Given the description of an element on the screen output the (x, y) to click on. 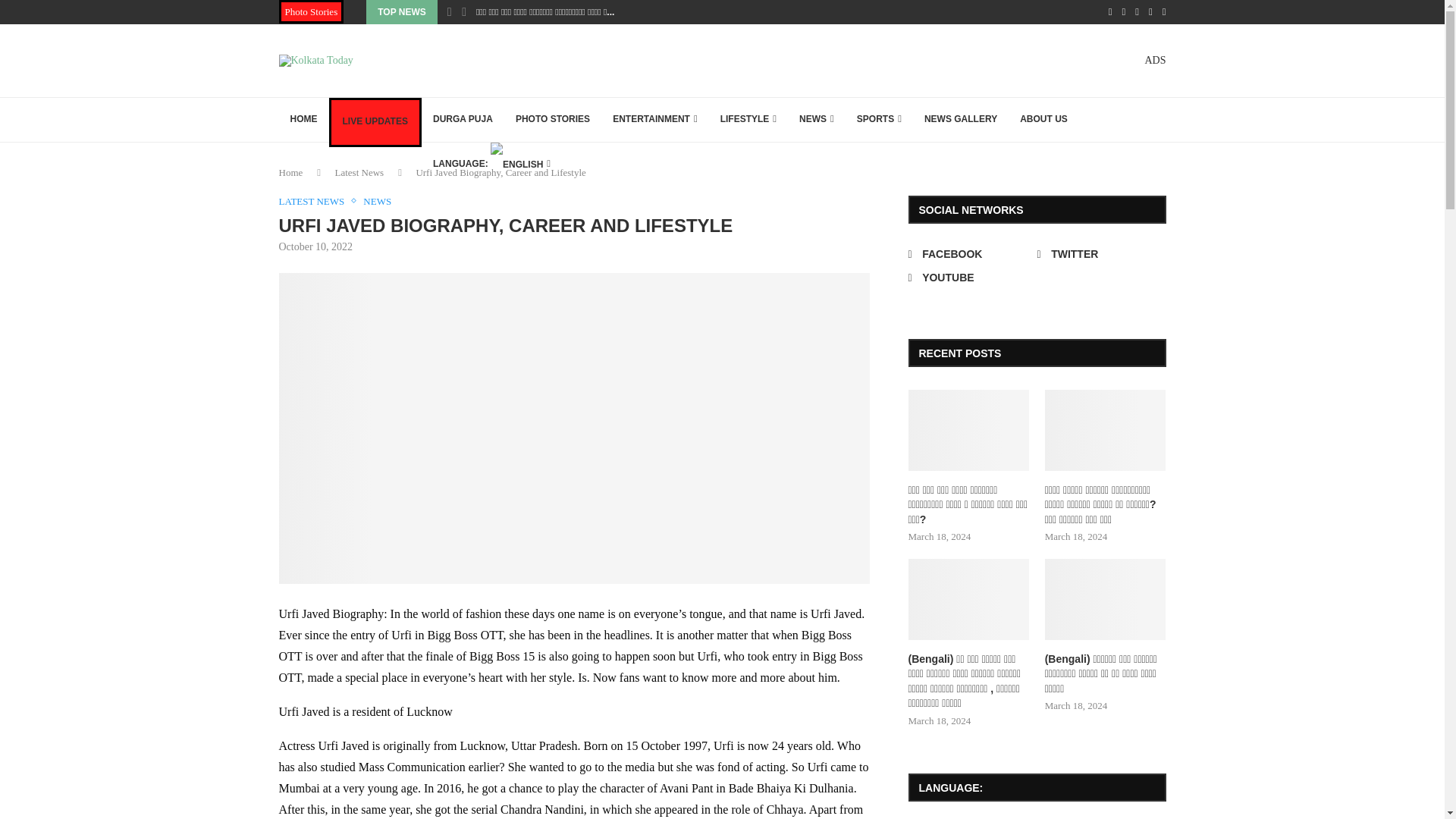
LIVE UPDATES (374, 121)
NEWS (816, 119)
HOME (304, 119)
English (492, 164)
ENTERTAINMENT (655, 119)
LIFESTYLE (748, 119)
PHOTO STORIES (552, 119)
DURGA PUJA (462, 119)
Photo Stories (311, 11)
